Given the description of an element on the screen output the (x, y) to click on. 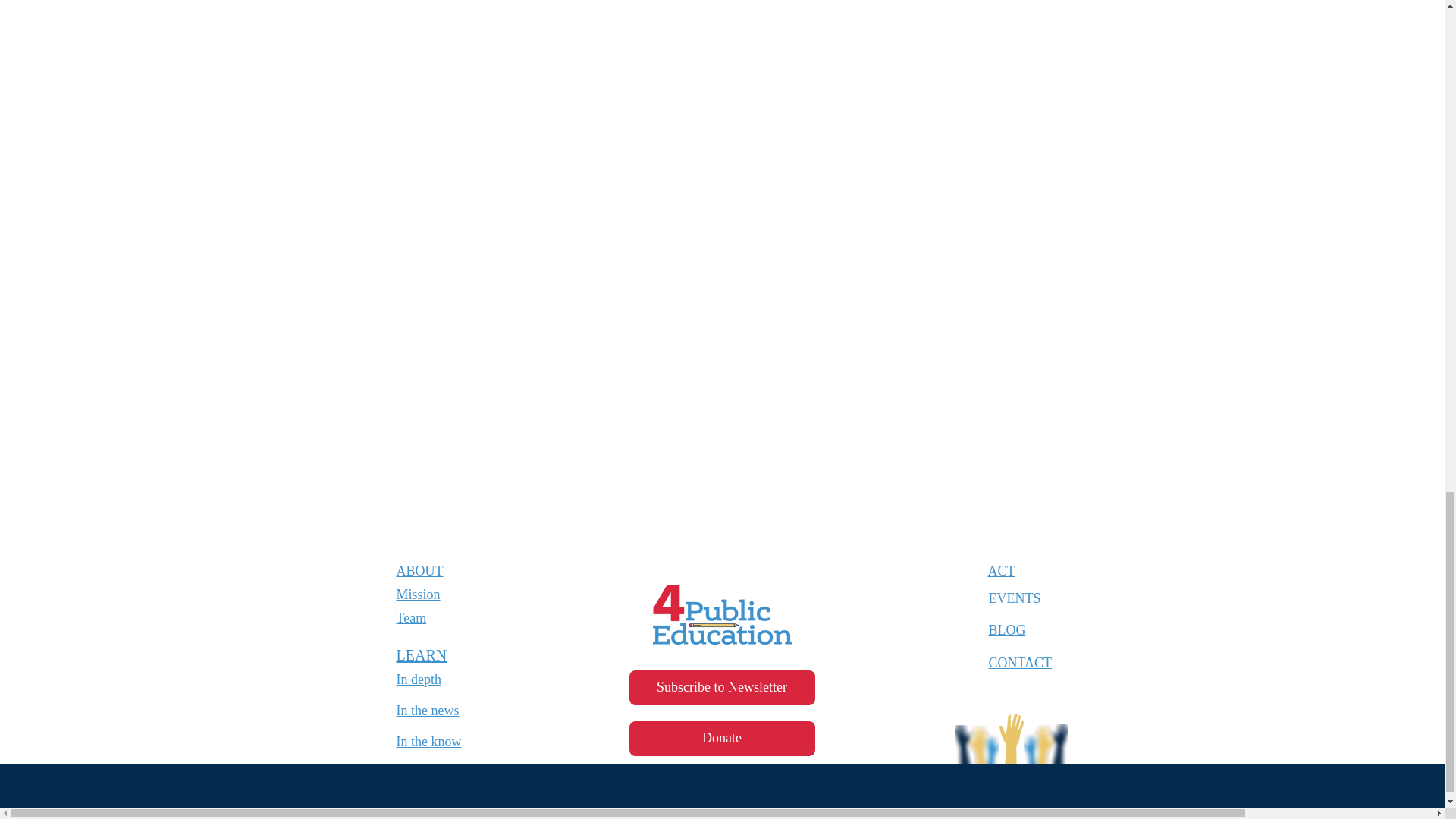
CONTACT (1020, 662)
LEARN (421, 655)
In the know (428, 741)
Donate (721, 738)
Subscribe to Newsletter (721, 687)
ABOUT (419, 570)
ACT (1000, 570)
In depth (418, 679)
EVENTS (1014, 598)
In the news (427, 710)
